Given the description of an element on the screen output the (x, y) to click on. 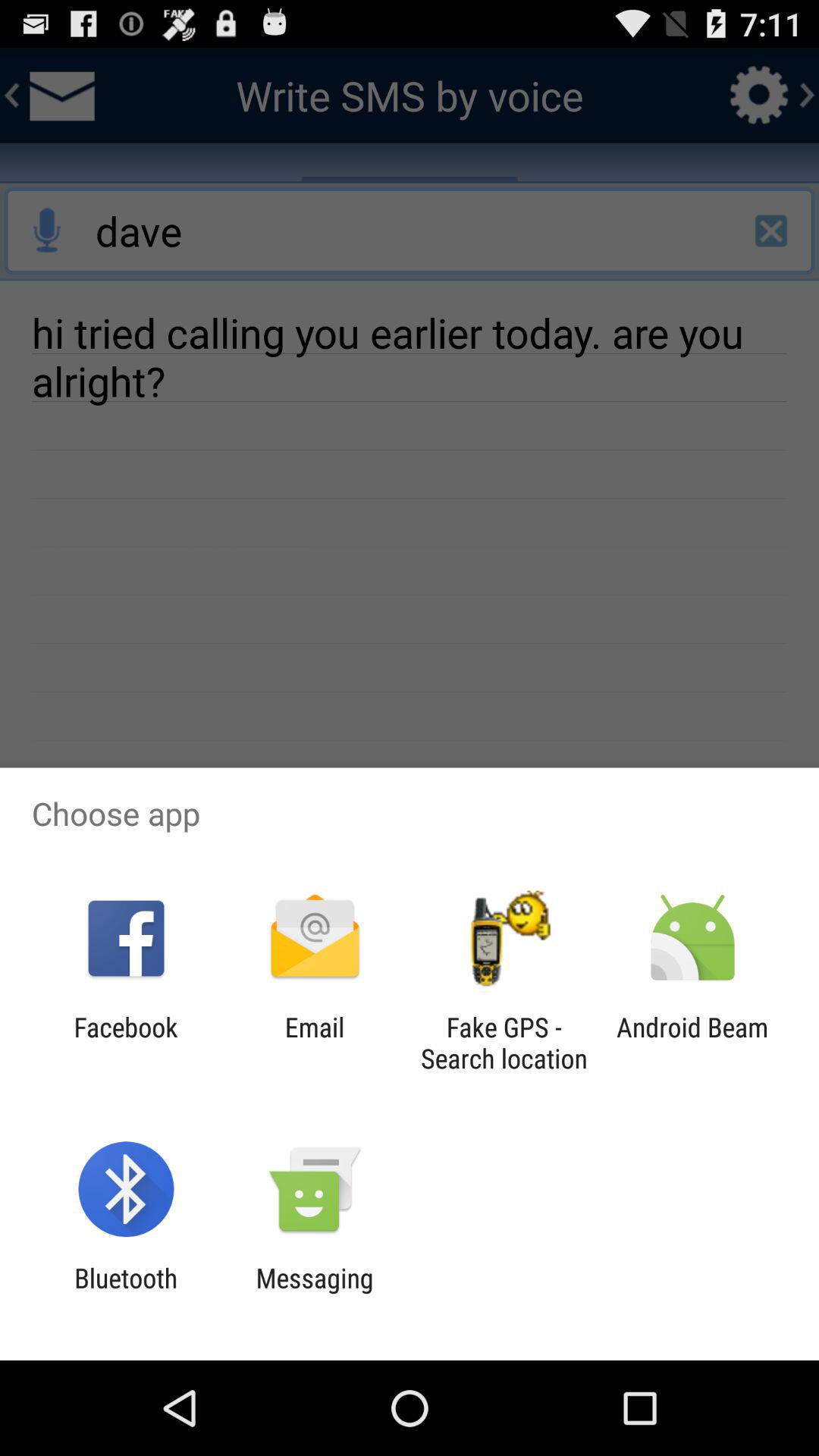
press app to the left of messaging (125, 1293)
